Given the description of an element on the screen output the (x, y) to click on. 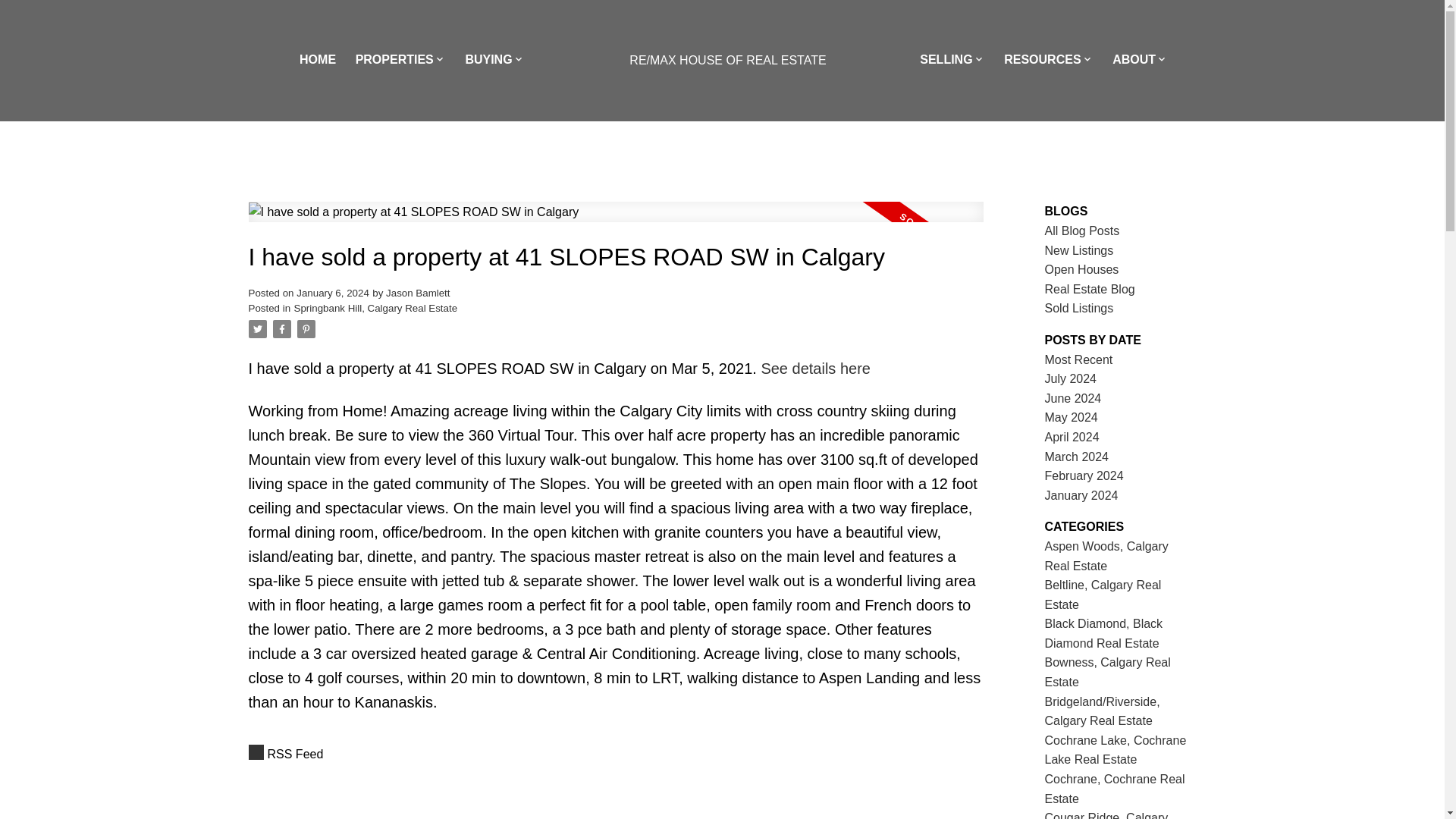
Springbank Hill, Calgary Real Estate (376, 307)
Open Houses (1082, 269)
July 2024 (1071, 378)
January 2024 (1081, 495)
June 2024 (1073, 398)
May 2024 (1071, 417)
Beltline, Calgary Real Estate (1103, 594)
Aspen Woods, Calgary Real Estate (1107, 555)
Sold Listings (1079, 308)
RSS (616, 754)
February 2024 (1084, 475)
Black Diamond, Black Diamond Real Estate (1104, 633)
April 2024 (1072, 436)
March 2024 (1077, 456)
Most Recent (1079, 359)
